Given the description of an element on the screen output the (x, y) to click on. 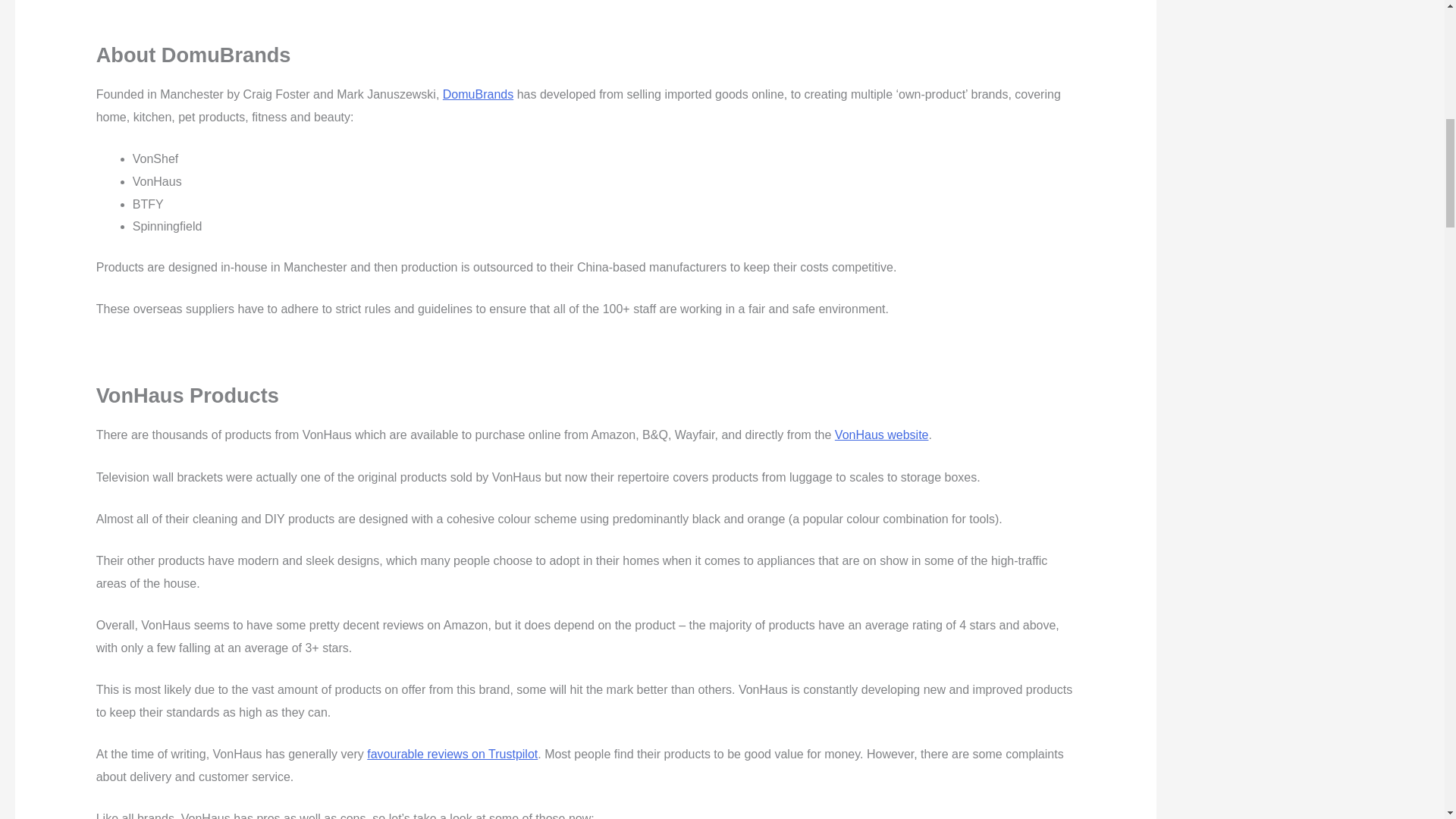
favourable reviews on Trustpilot (451, 753)
DomuBrands (477, 93)
VonHaus website (881, 434)
